Given the description of an element on the screen output the (x, y) to click on. 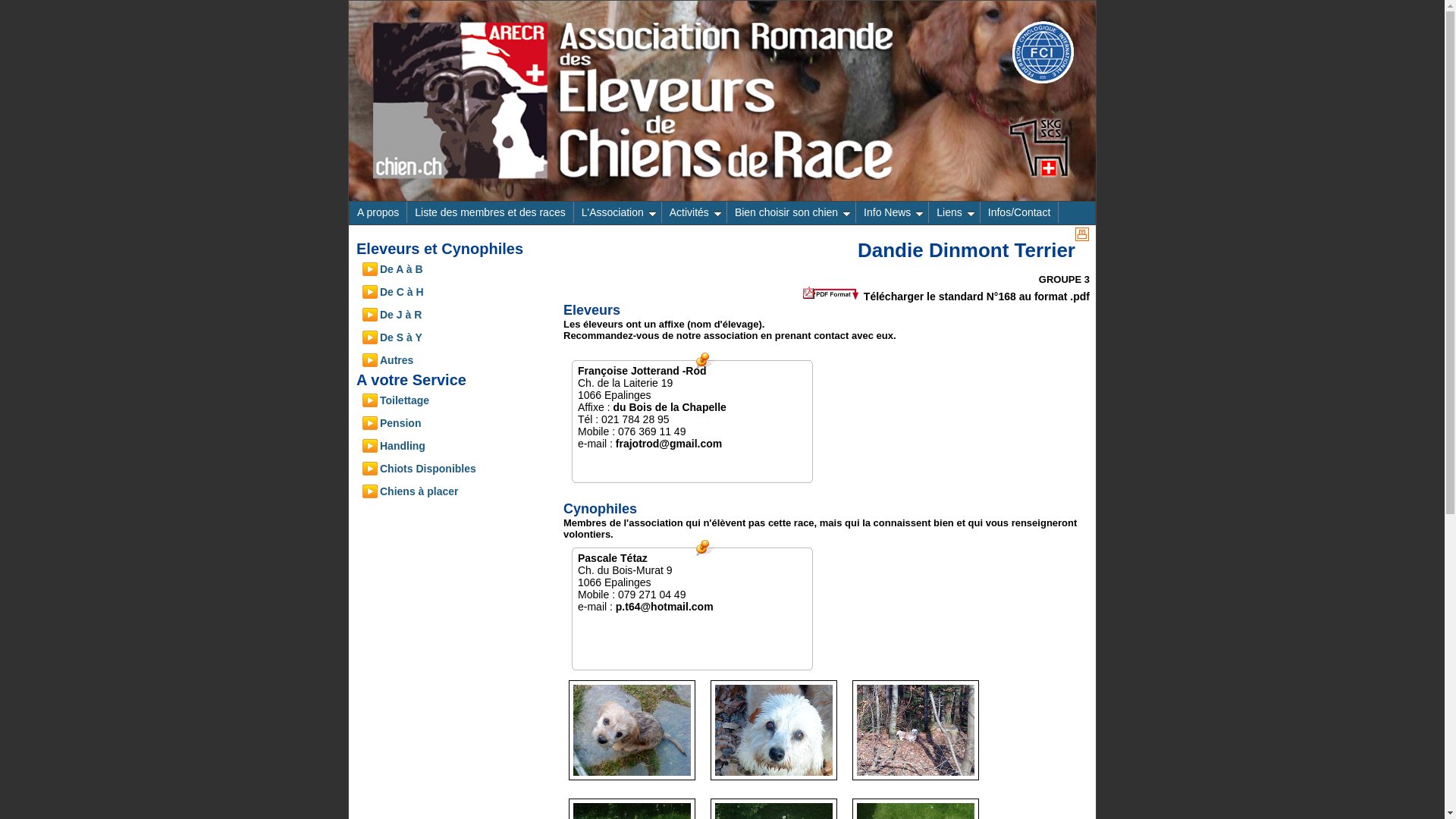
A propos Element type: text (378, 211)
p.t64@hotmail.com Element type: text (664, 606)
Chiots Disponibles Element type: text (462, 468)
Liens Element type: text (953, 211)
frajotrod@gmail.com Element type: text (668, 443)
Liste des membres et des races Element type: text (490, 211)
Pension Element type: text (462, 423)
Handling Element type: text (462, 445)
L'Association Element type: text (618, 211)
Autres Element type: text (462, 360)
Toilettage Element type: text (462, 400)
Infos/Contact Element type: text (1019, 211)
Bien choisir son chien Element type: text (791, 211)
Info News Element type: text (892, 211)
